Given the description of an element on the screen output the (x, y) to click on. 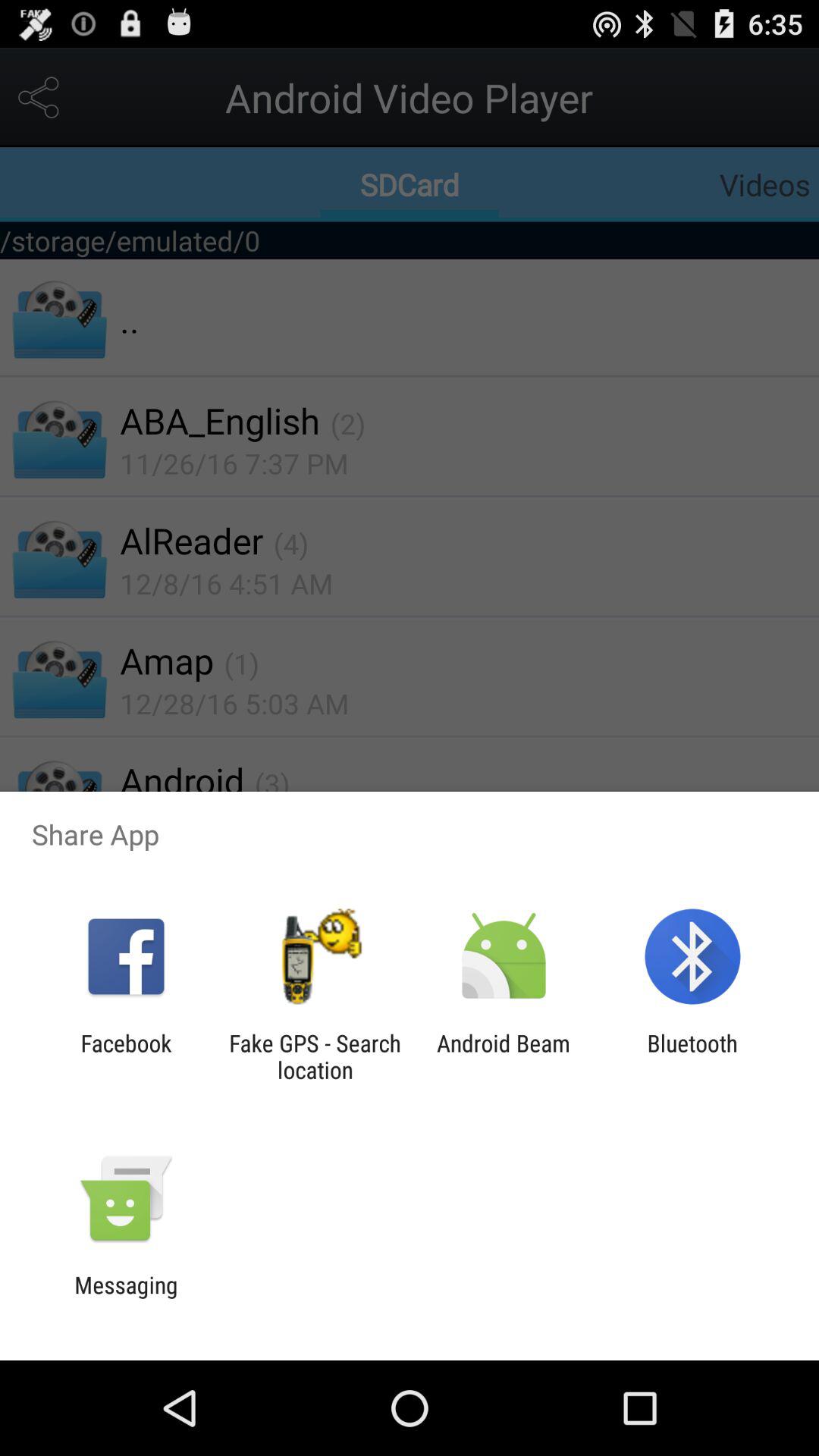
press item next to facebook icon (314, 1056)
